Given the description of an element on the screen output the (x, y) to click on. 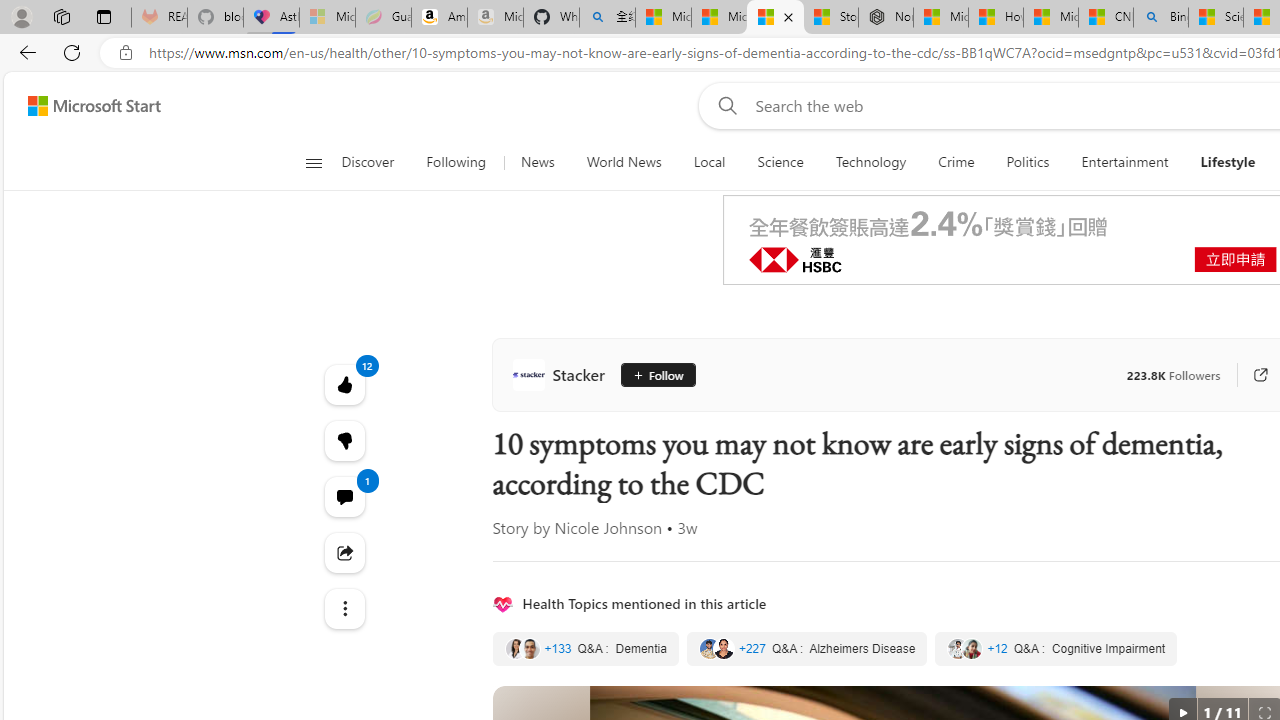
Stacker (562, 374)
Lifestyle (1228, 162)
World News (623, 162)
Web search (724, 105)
12 Like (343, 384)
